Given the description of an element on the screen output the (x, y) to click on. 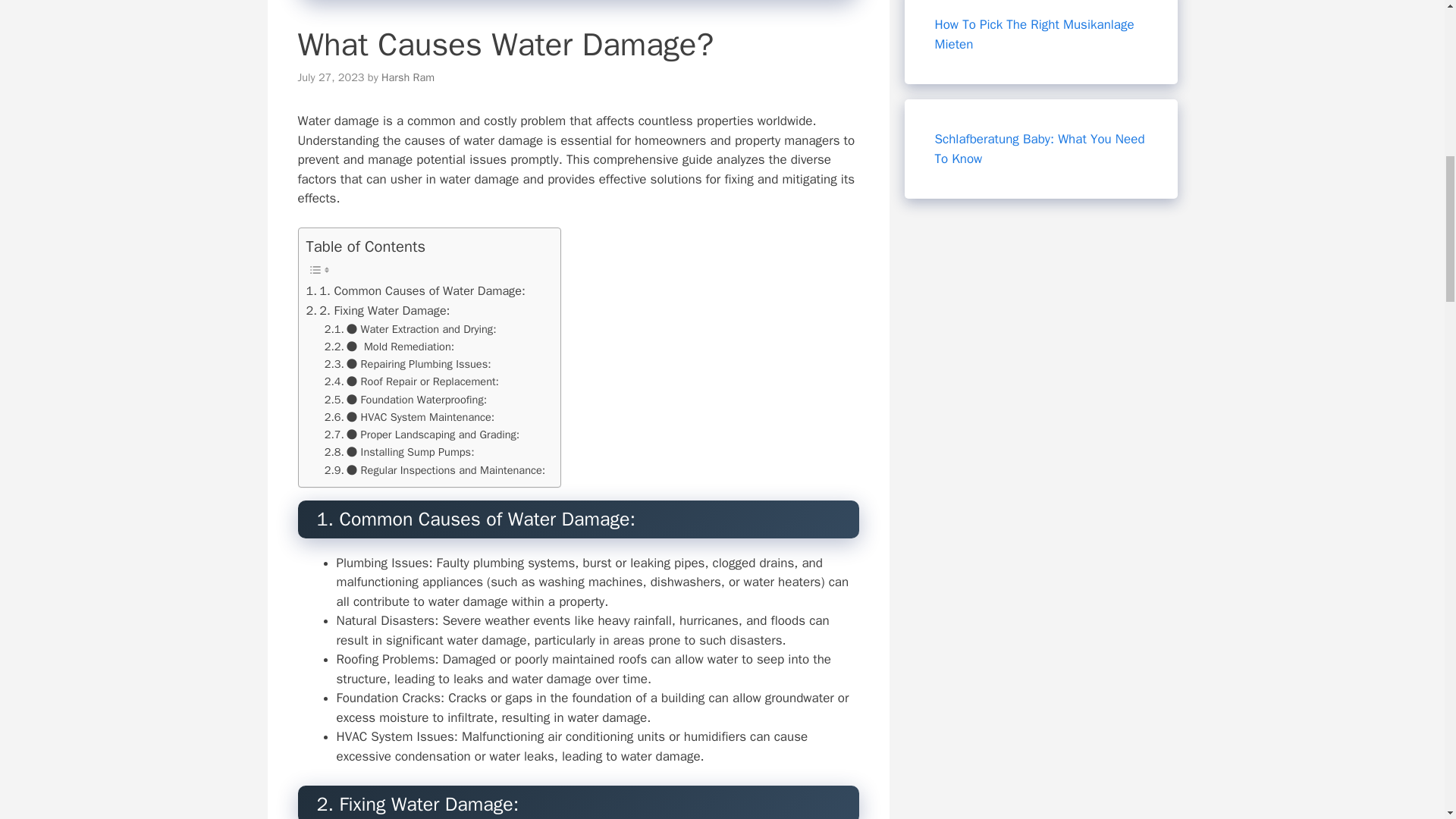
Schlafberatung Baby: What You Need To Know (1039, 149)
How To Pick The Right Musikanlage Mieten (1034, 34)
2. Fixing Water Damage: (377, 311)
Harsh Ram (407, 77)
View all posts by Harsh Ram (407, 77)
2. Fixing Water Damage: (377, 311)
1. Common Causes of Water Damage: (415, 291)
1. Common Causes of Water Damage: (415, 291)
